Given the description of an element on the screen output the (x, y) to click on. 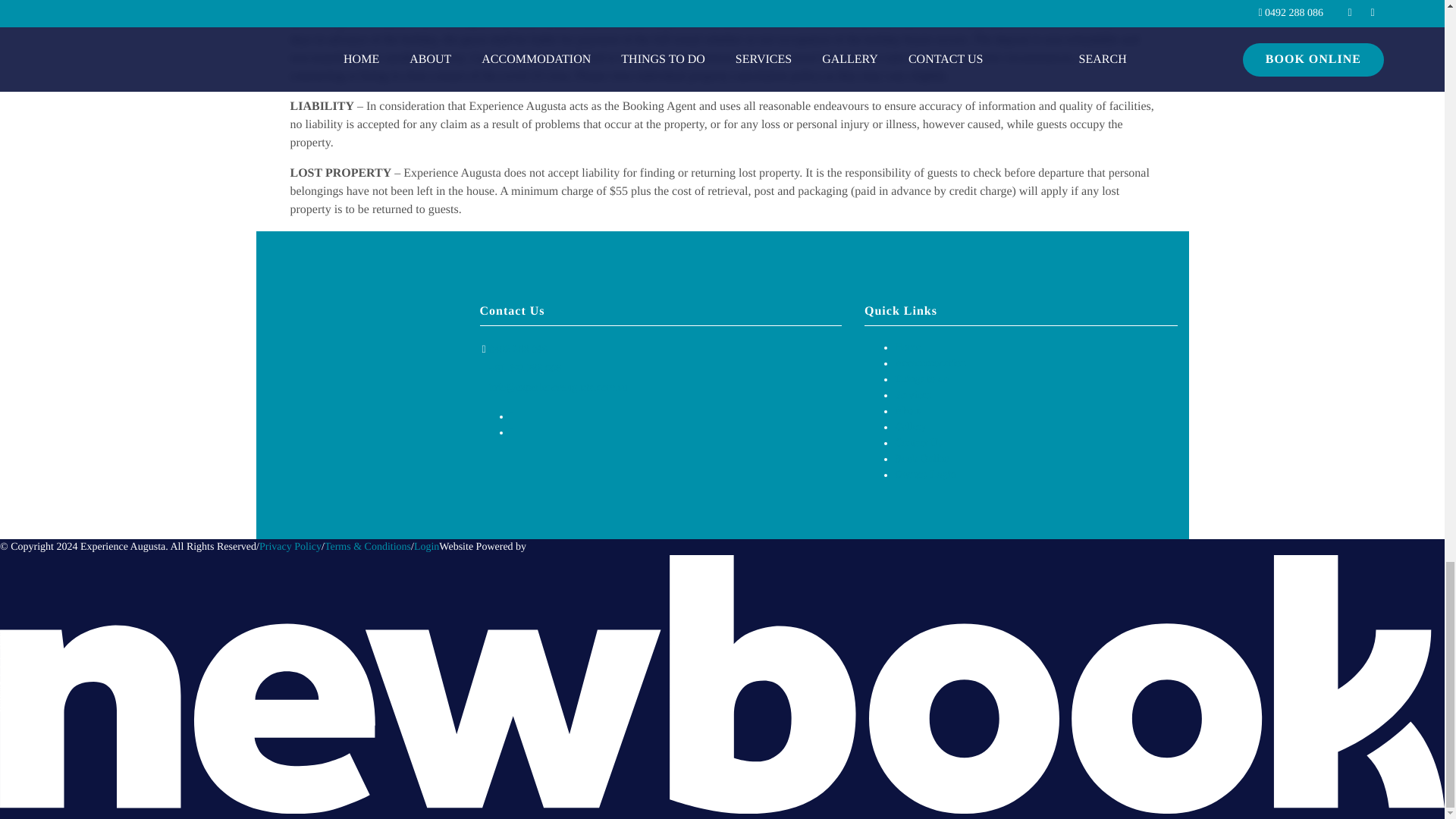
Privacy Policy (290, 546)
Book Online (922, 459)
Accommodation (930, 363)
Contact Us (918, 442)
0492 288 086 (518, 349)
Services (912, 395)
Home (907, 347)
View our privacy policy (290, 546)
Log into the website editor (426, 546)
Owners Login (925, 474)
